Given the description of an element on the screen output the (x, y) to click on. 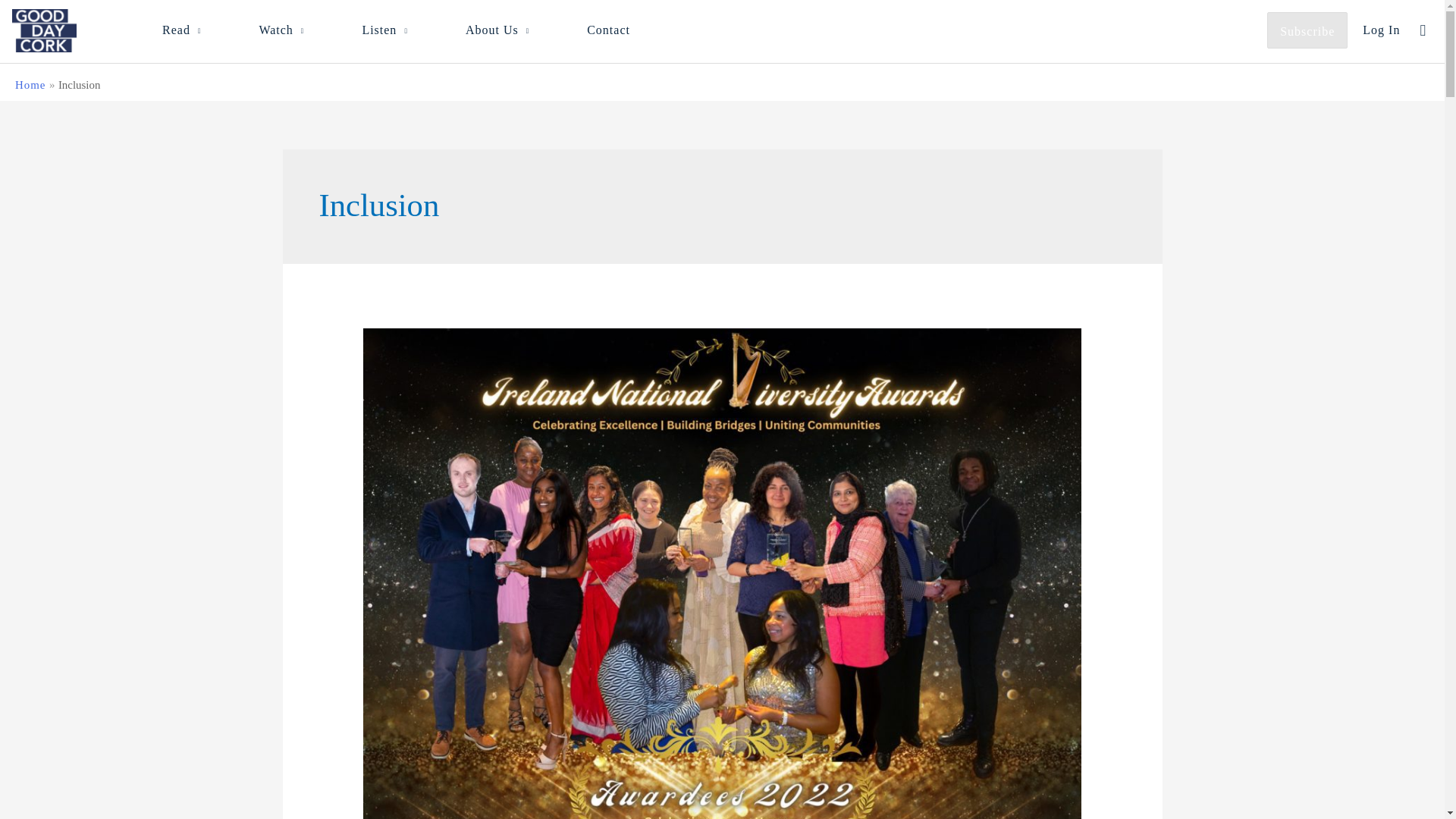
Read (153, 30)
Listen (356, 30)
Watch (253, 30)
